Given the description of an element on the screen output the (x, y) to click on. 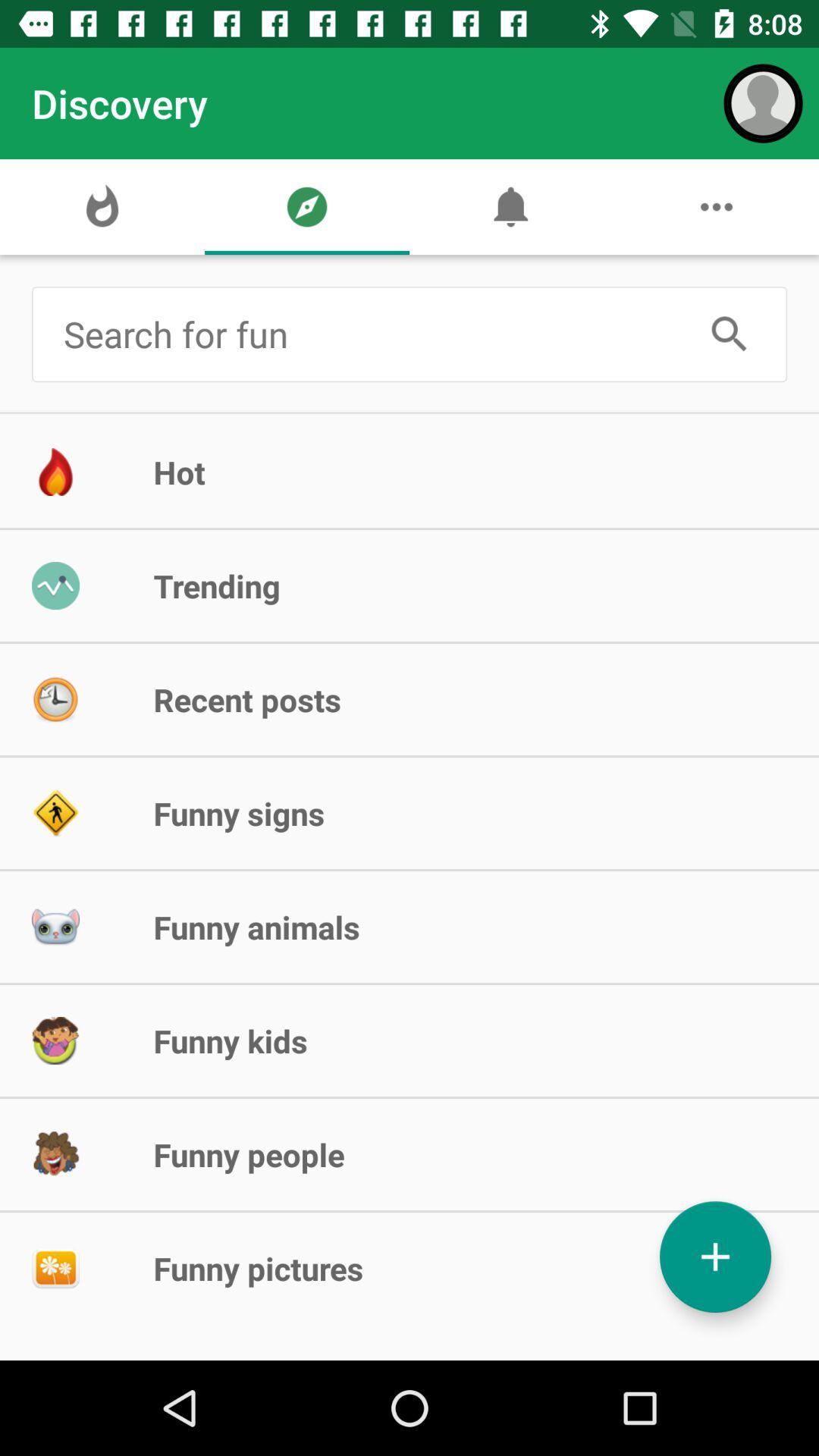
search for more here (372, 333)
